Given the description of an element on the screen output the (x, y) to click on. 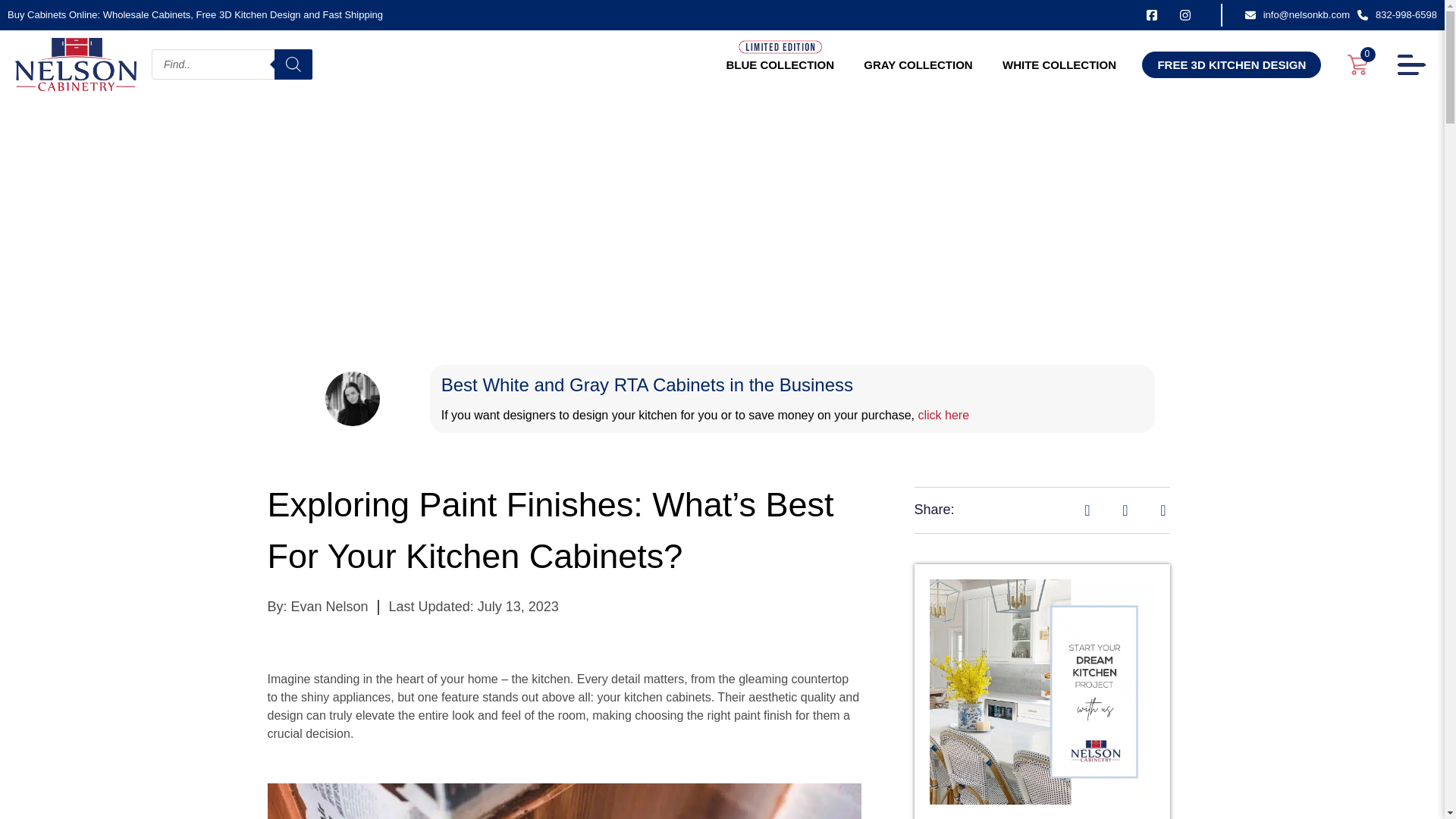
0 (1357, 64)
WHITE COLLECTION (1058, 64)
BLUE COLLECTION (780, 64)
GRAY COLLECTION (917, 64)
FREE 3D KITCHEN DESIGN (1230, 64)
832-998-6598 (1396, 15)
